Given the description of an element on the screen output the (x, y) to click on. 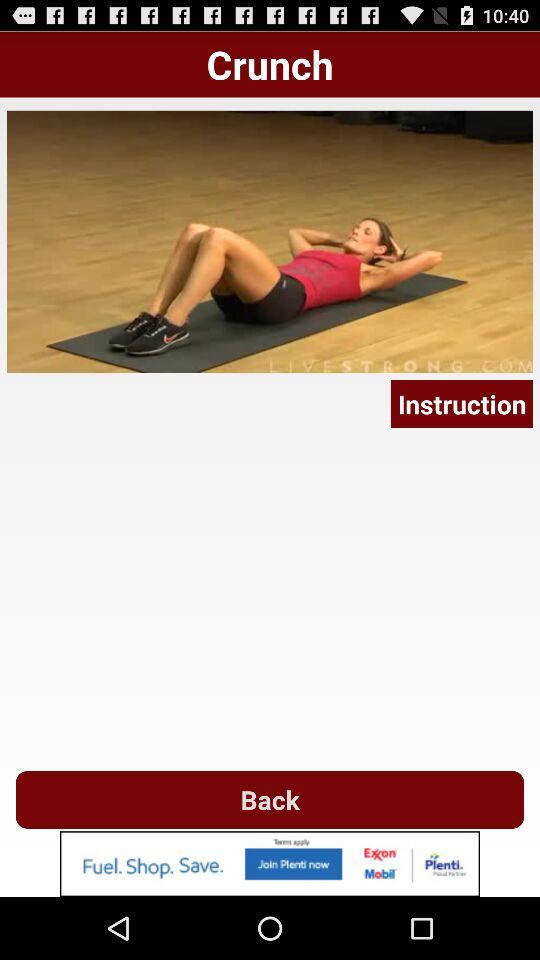
launch advertisement (270, 864)
